Given the description of an element on the screen output the (x, y) to click on. 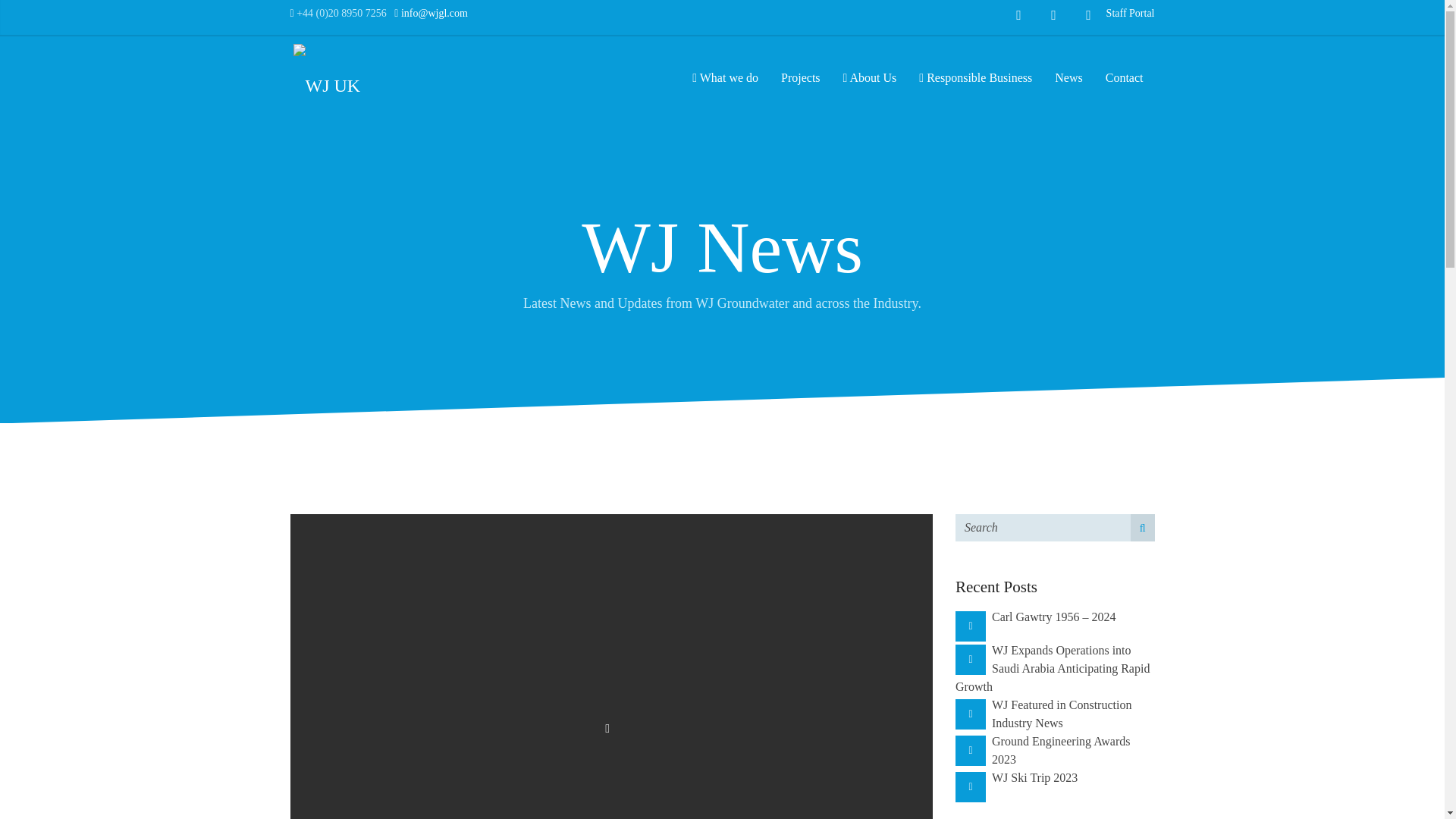
 Responsible Business (975, 77)
Ground Engineering Awards 2023 (1061, 749)
Staff Portal (1130, 12)
 What we do (725, 77)
Projects (800, 77)
 About Us (869, 77)
WJ Ski Trip 2023 (1034, 777)
WJ Featured in Construction Industry News (1061, 713)
